Given the description of an element on the screen output the (x, y) to click on. 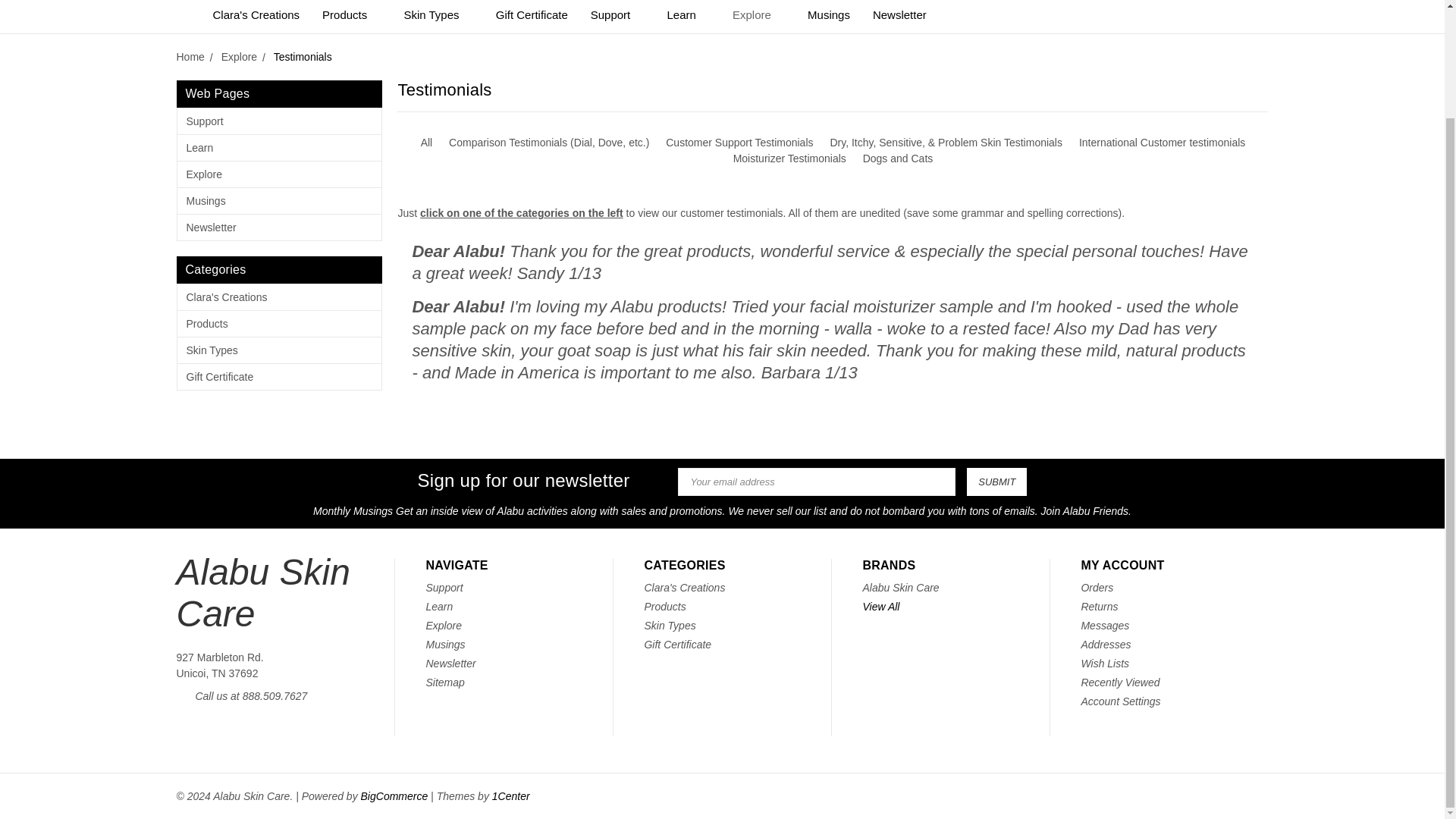
Submit (996, 481)
